Given the description of an element on the screen output the (x, y) to click on. 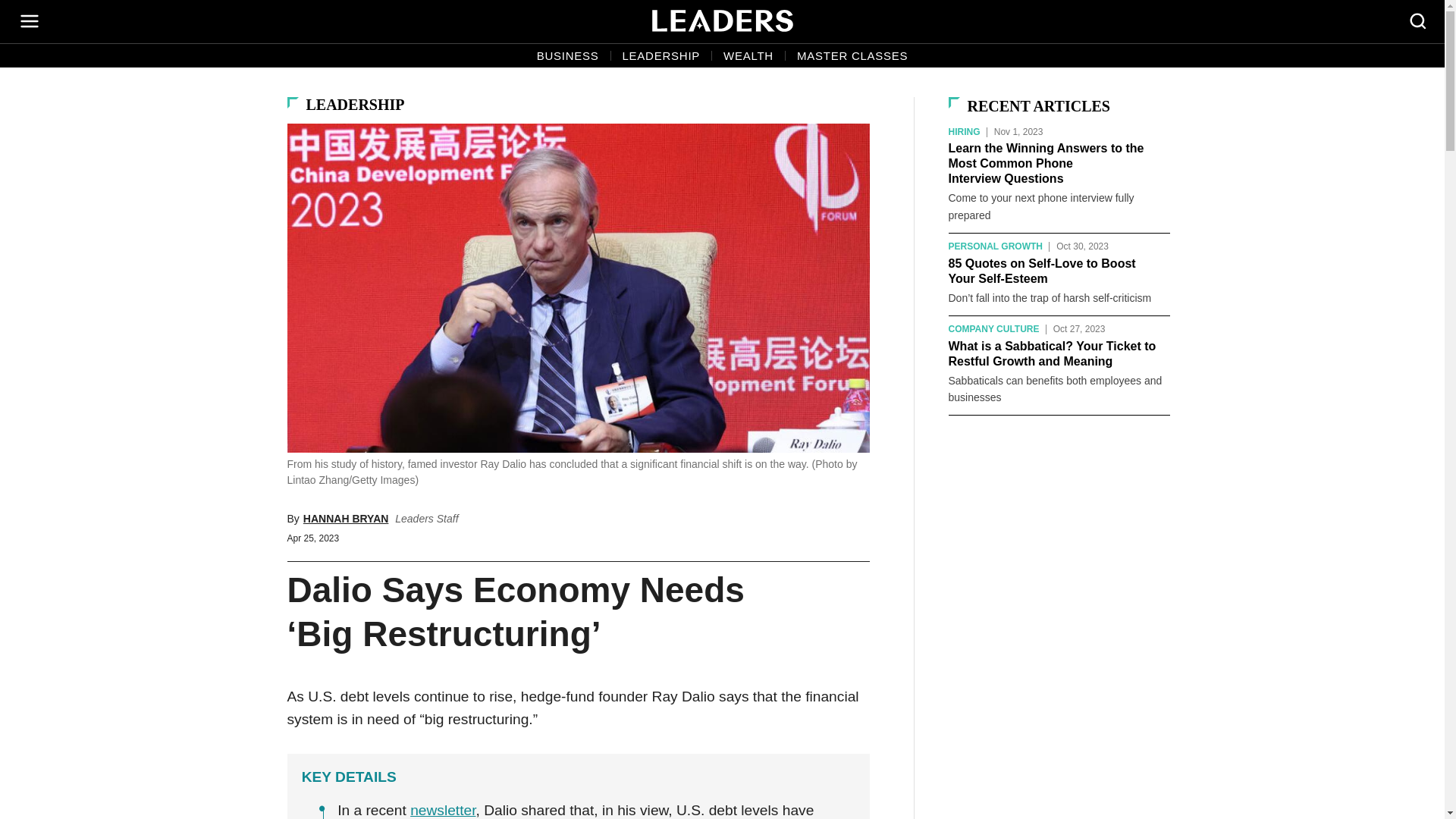
BUSINESS (567, 55)
WEALTH (747, 55)
LEADERSHIP (354, 104)
MASTER CLASSES (852, 55)
Leaders.com (722, 20)
LEADERSHIP (661, 55)
newsletter (443, 810)
HANNAH BRYAN (345, 518)
